Given the description of an element on the screen output the (x, y) to click on. 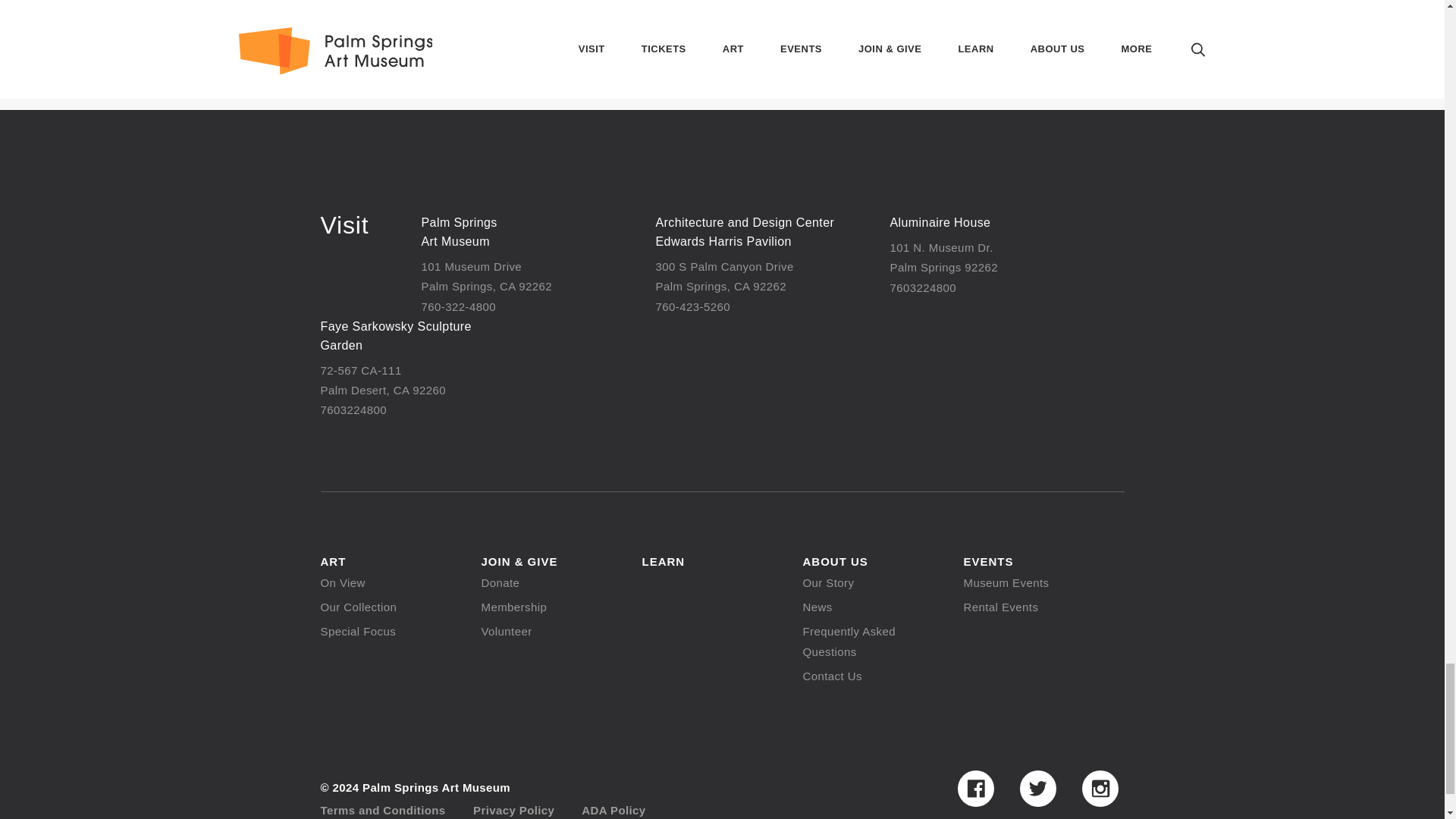
Facebook icon (974, 788)
Twitter icon (1037, 788)
Instagram icon (1099, 788)
